Given the description of an element on the screen output the (x, y) to click on. 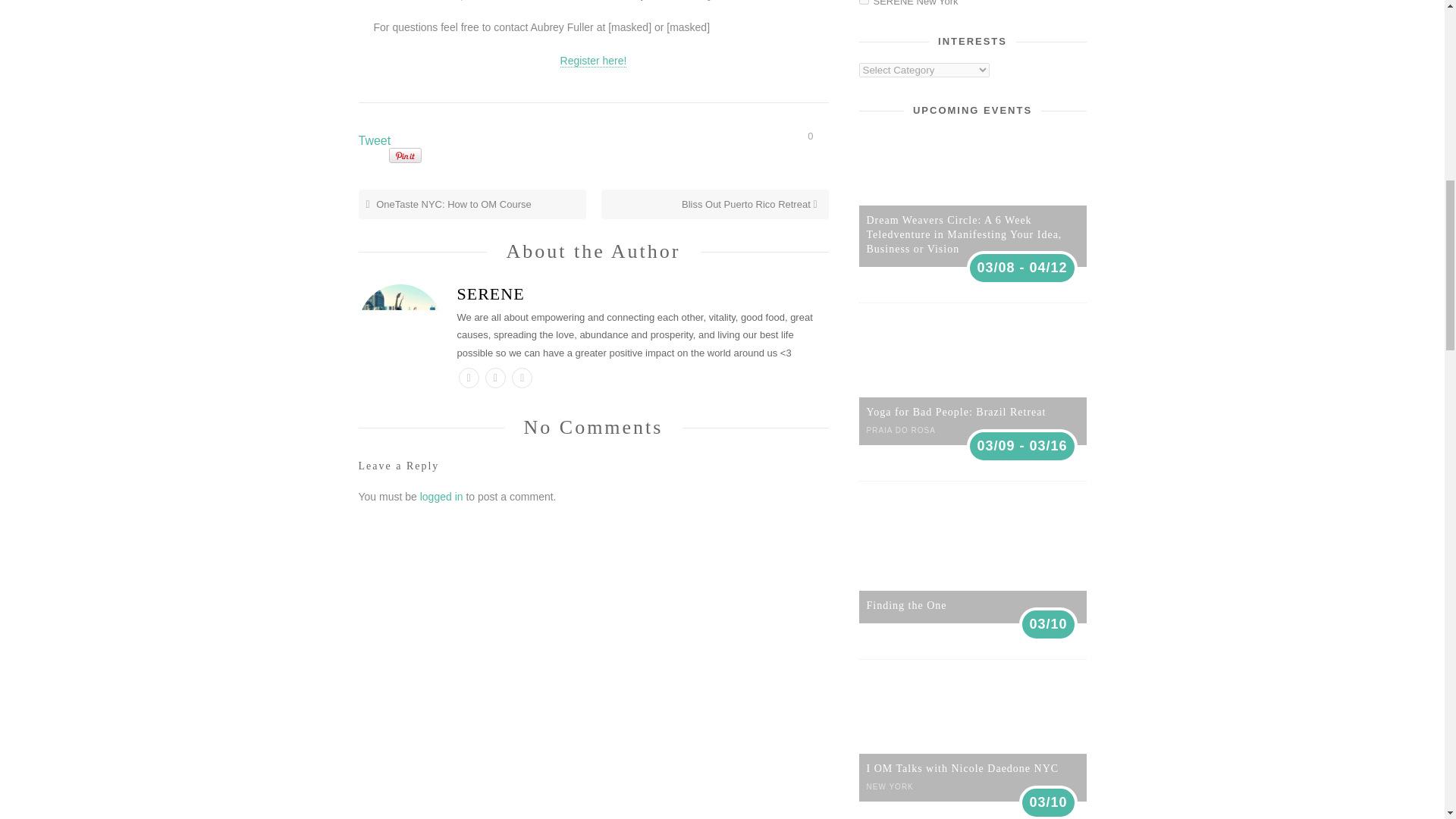
Pin It (404, 155)
0 (818, 135)
SERENE New York (863, 2)
I OM Talks with Nicole Daedone NYC (962, 767)
SERENE (593, 293)
Yoga for Bad People: Brazil Retreat (955, 411)
Register here! (593, 60)
Bliss Out Puerto Rico Retreat (751, 204)
Yoga for Bad People: Brazil Retreat (955, 411)
logged in (441, 496)
Comment on I OM Talks with Nicole Daedone NYC (818, 135)
Tweet (374, 140)
Finding the One (906, 604)
